Given the description of an element on the screen output the (x, y) to click on. 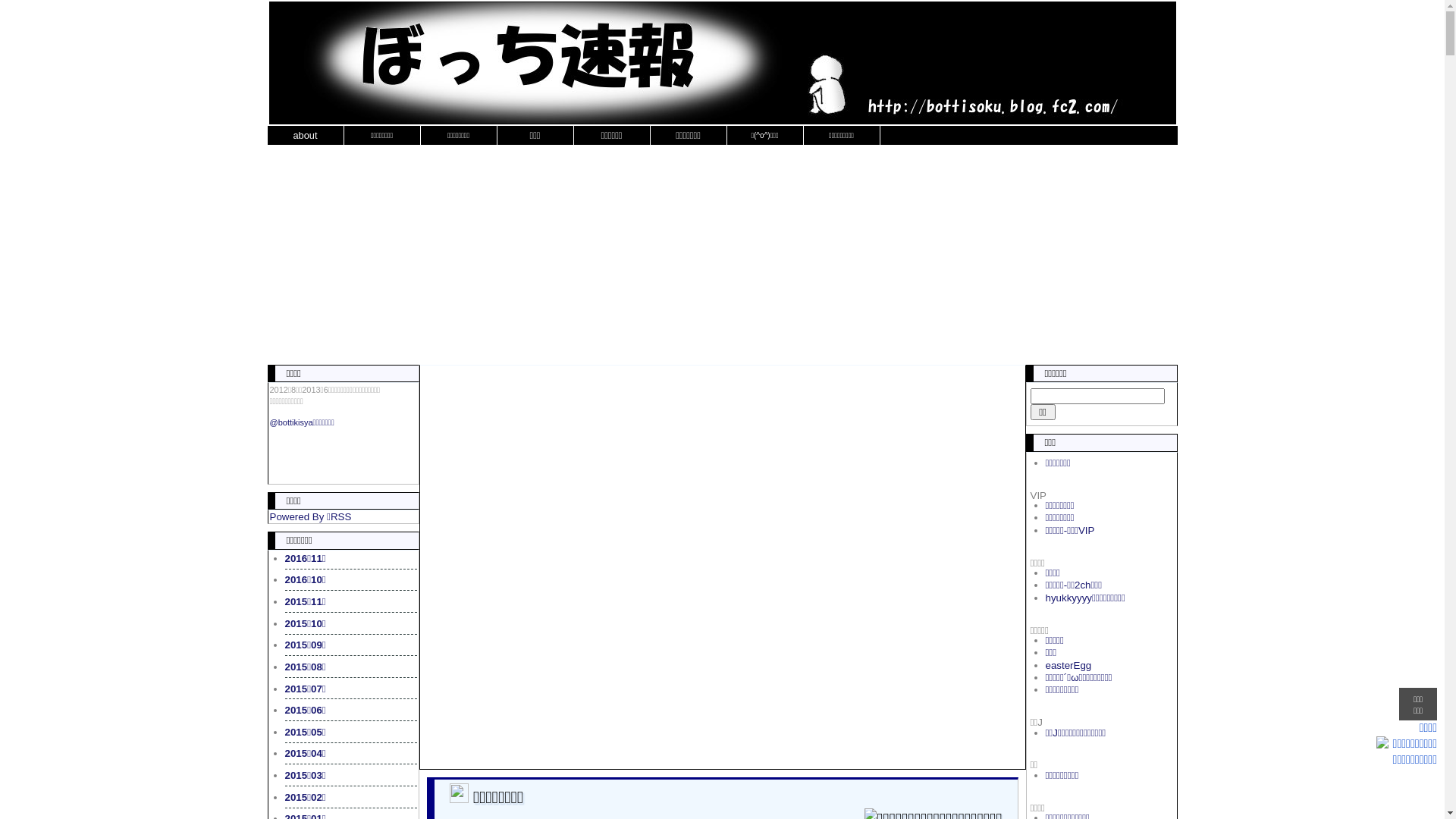
about Element type: text (304, 134)
easterEgg Element type: text (1067, 665)
